Given the description of an element on the screen output the (x, y) to click on. 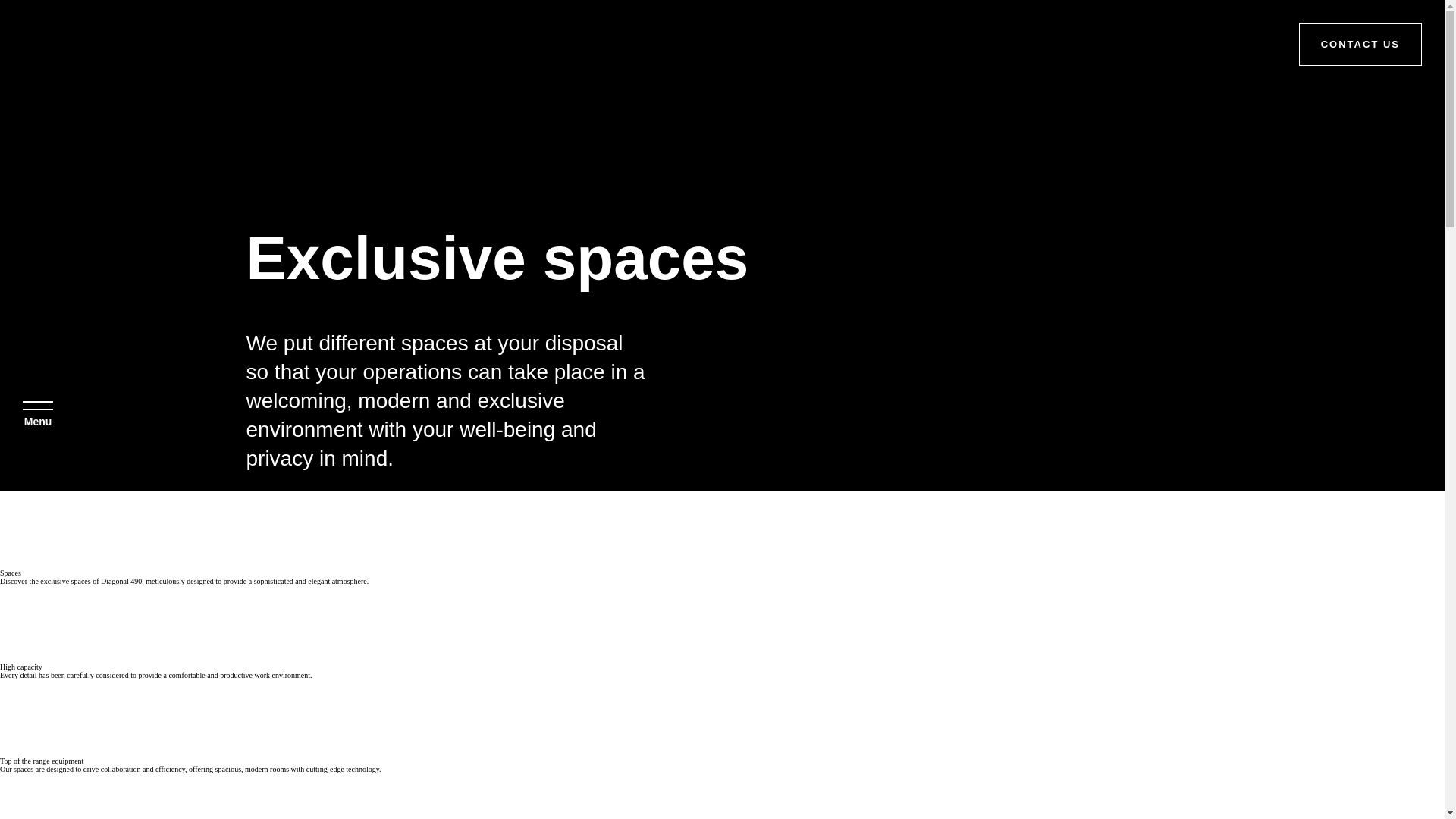
CONTACT US (1360, 44)
FR  (79, 783)
CA  (103, 783)
ES  (57, 783)
